Given the description of an element on the screen output the (x, y) to click on. 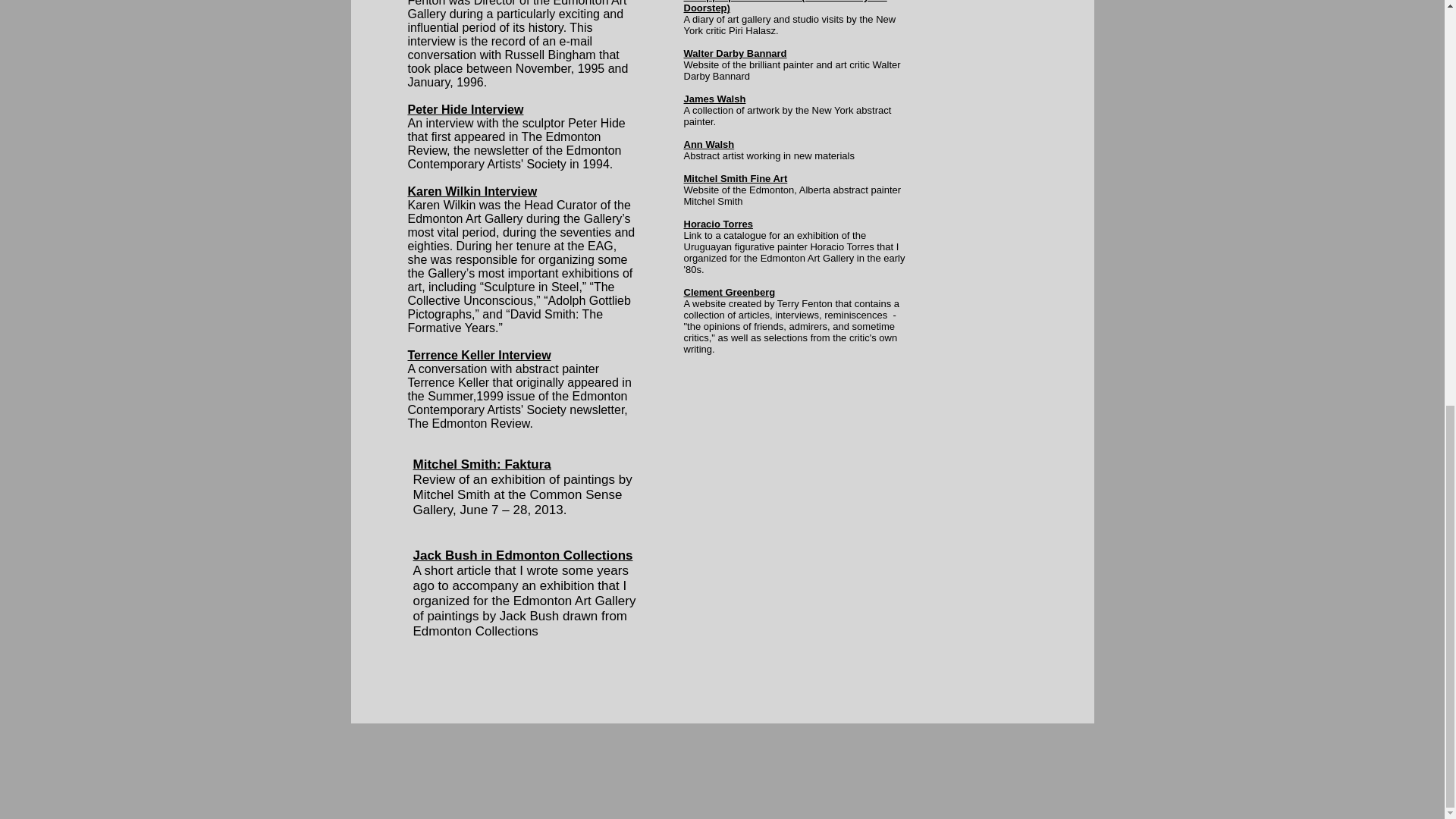
Mitchel Smith Fine Art (735, 178)
Terrence Keller Interview (479, 354)
Walter Darby Bannard (735, 52)
Horacio Torres (719, 224)
Peter Hide Interview (465, 109)
Mitchel Smith: Faktura (481, 464)
Karen Wilkin Interview (472, 191)
Jack Bush in Edmonton Collections (521, 554)
Ann Walsh (709, 143)
Clement Greenberg (730, 292)
James Walsh (714, 98)
